Given the description of an element on the screen output the (x, y) to click on. 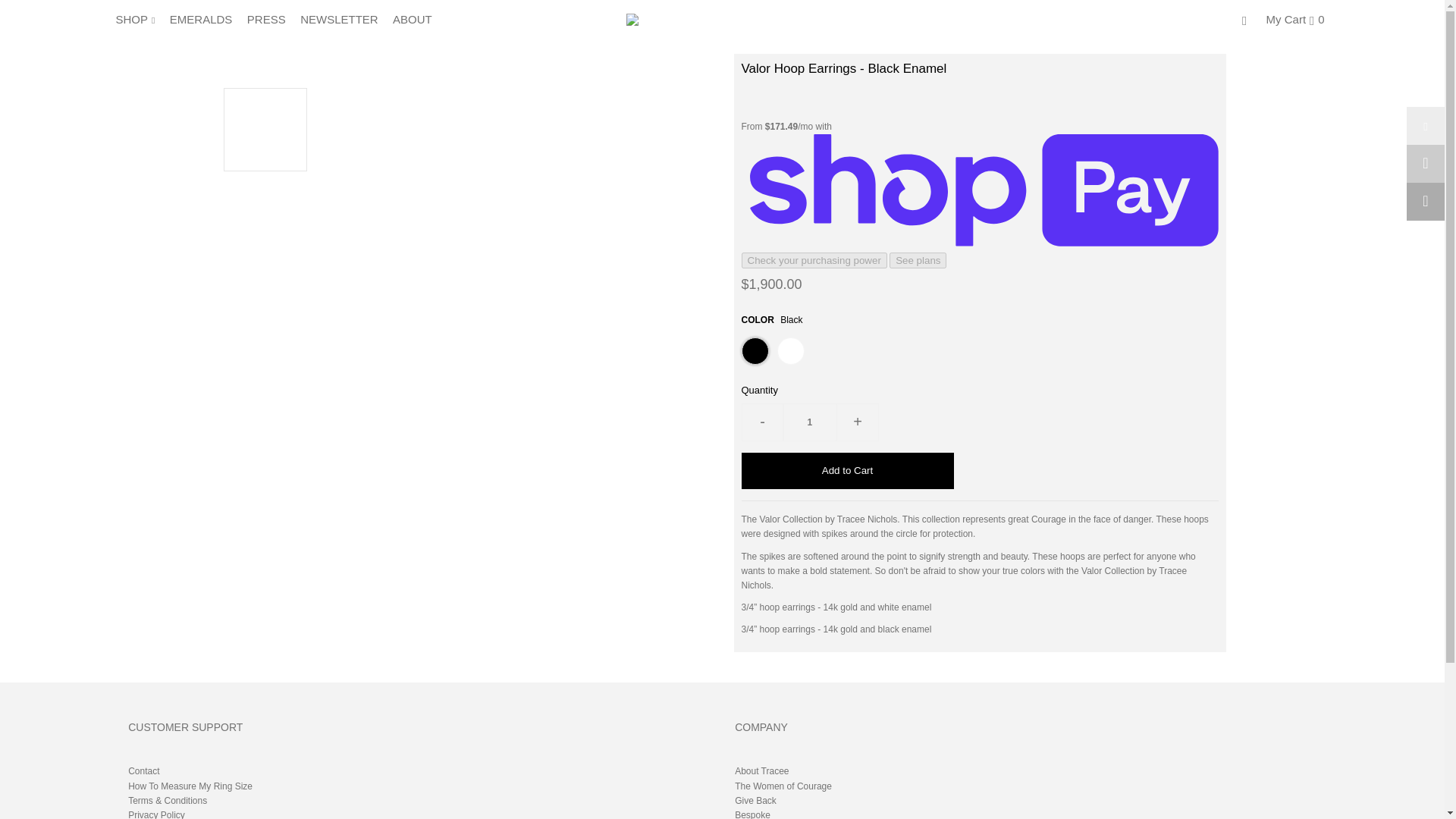
NEWSLETTER (344, 19)
SHOP (140, 19)
EMERALDS (207, 19)
ABOUT (418, 19)
Add to Cart (847, 470)
1 (810, 422)
My Cart0 (1295, 18)
PRESS (272, 19)
